Given the description of an element on the screen output the (x, y) to click on. 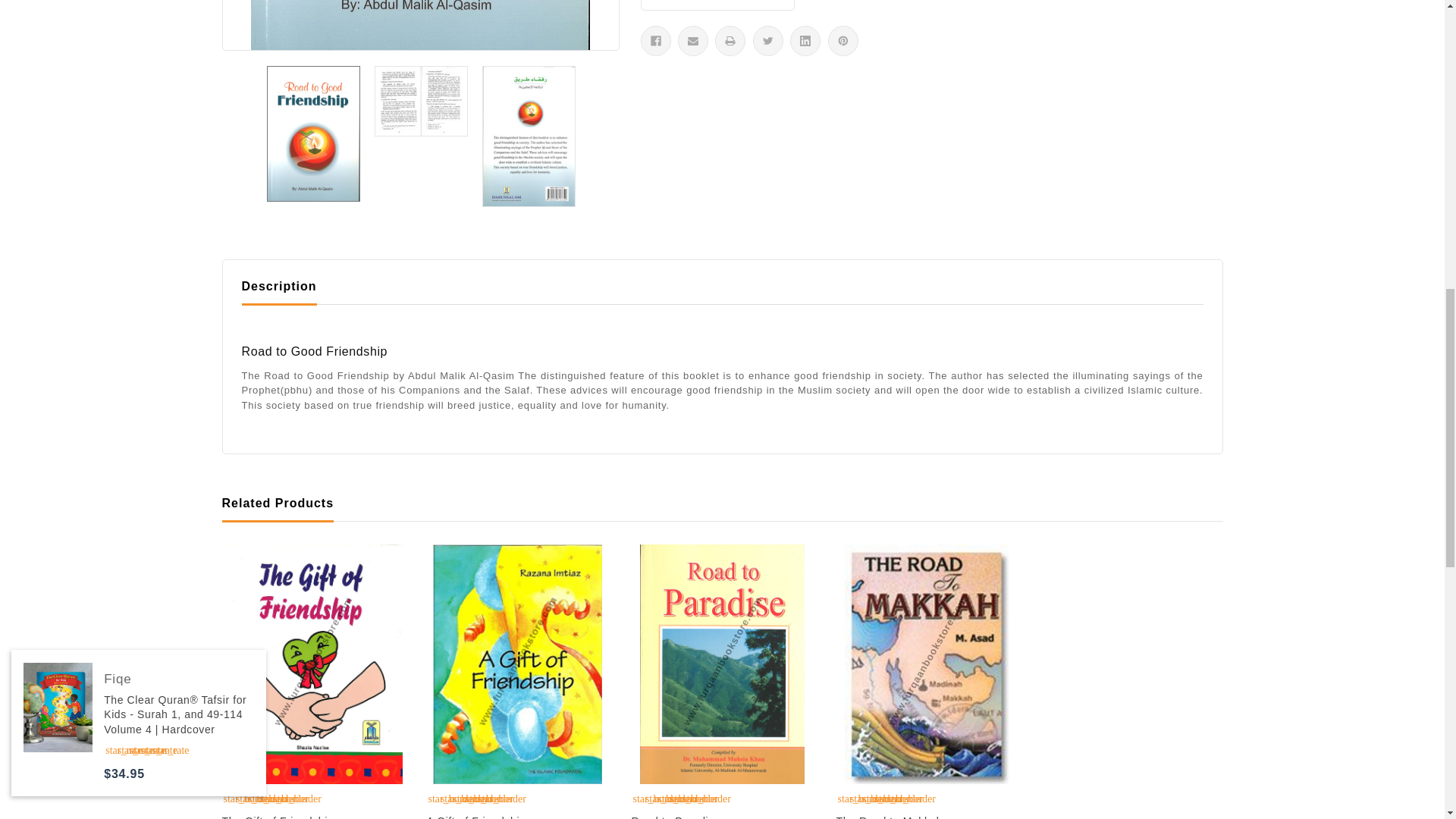
Road to good Friendship (420, 24)
Road to good Friendship (313, 133)
Road to good Friendship (421, 101)
Road to good Friendship (529, 136)
